Given the description of an element on the screen output the (x, y) to click on. 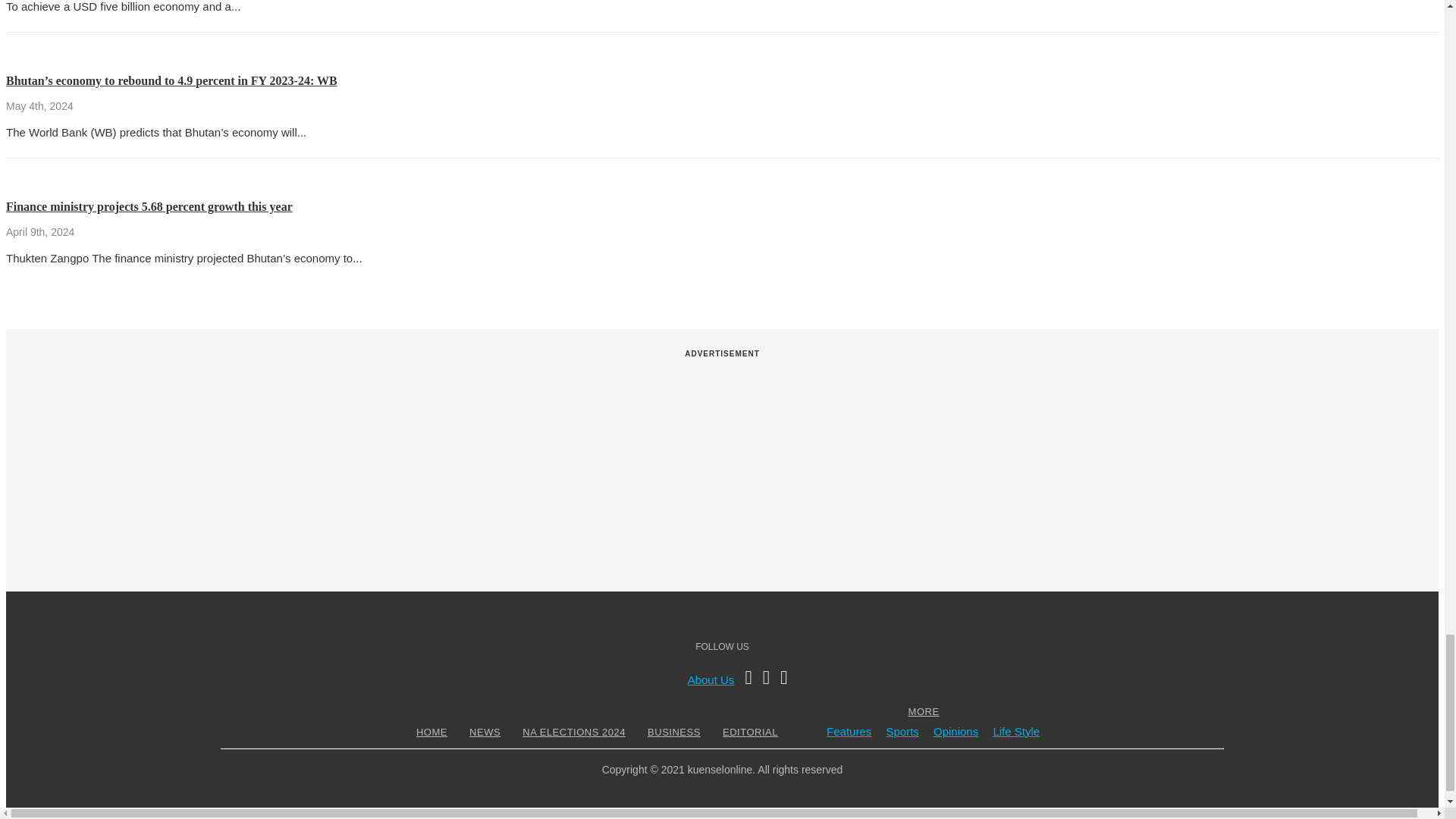
BUSINESS (673, 731)
HOME (431, 731)
About Us (711, 679)
NA ELECTIONS 2024 (573, 731)
MORE (923, 711)
NEWS (484, 731)
Finance ministry projects 5.68 percent growth this year (148, 205)
EDITORIAL (750, 731)
